Given the description of an element on the screen output the (x, y) to click on. 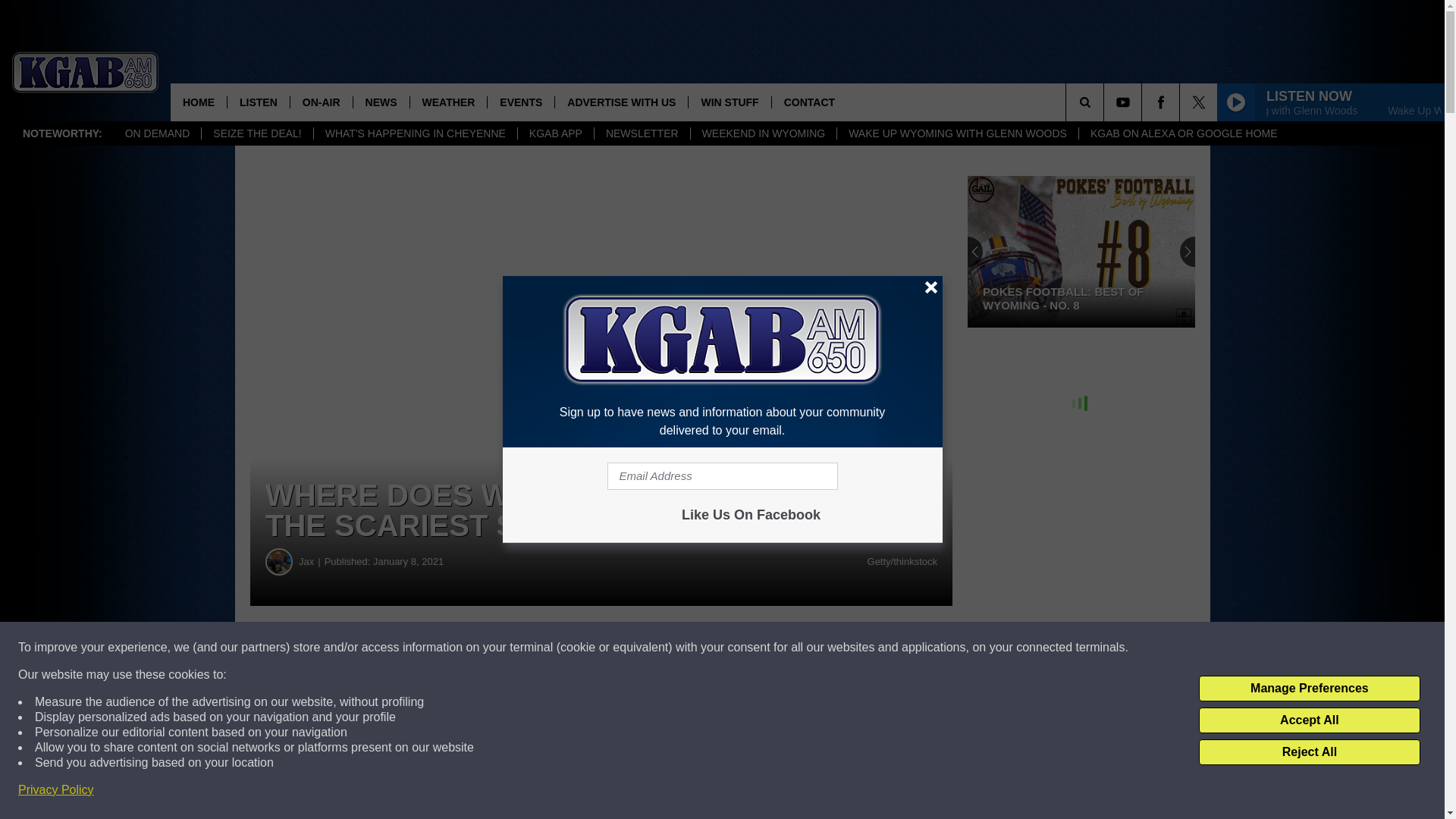
HOME (198, 102)
Privacy Policy (55, 789)
NEWSLETTER (642, 133)
KGAB ON ALEXA OR GOOGLE HOME (1183, 133)
SEARCH (1106, 102)
Share on Twitter (741, 647)
WHAT'S HAPPENING IN CHEYENNE (414, 133)
Accept All (1309, 720)
SEIZE THE DEAL! (256, 133)
Manage Preferences (1309, 688)
Share on Facebook (460, 647)
NOTEWORTHY: (62, 133)
SEARCH (1106, 102)
ON-AIR (320, 102)
WAKE UP WYOMING WITH GLENN WOODS (956, 133)
